Given the description of an element on the screen output the (x, y) to click on. 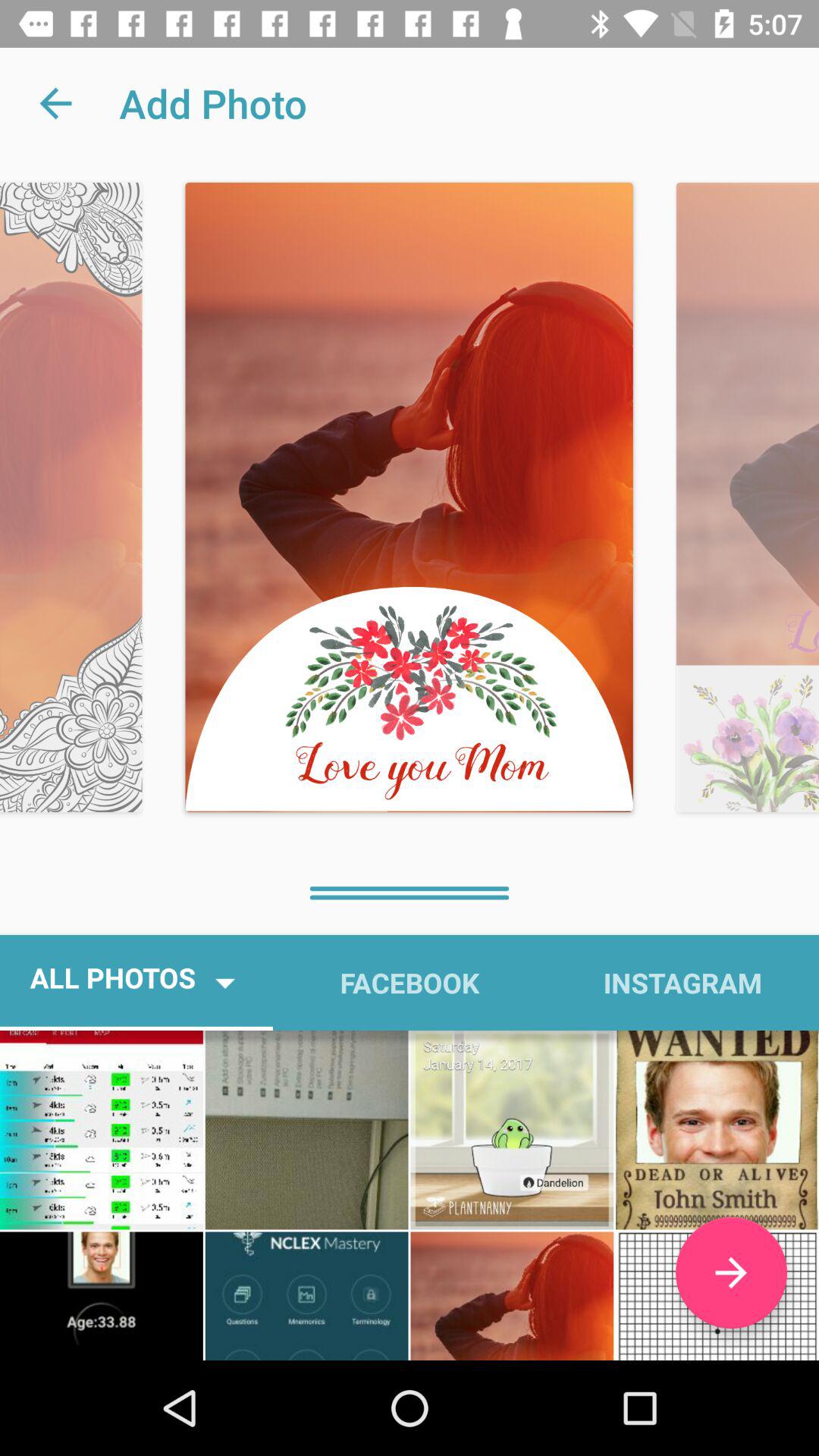
turn on app next to add photo icon (55, 103)
